Given the description of an element on the screen output the (x, y) to click on. 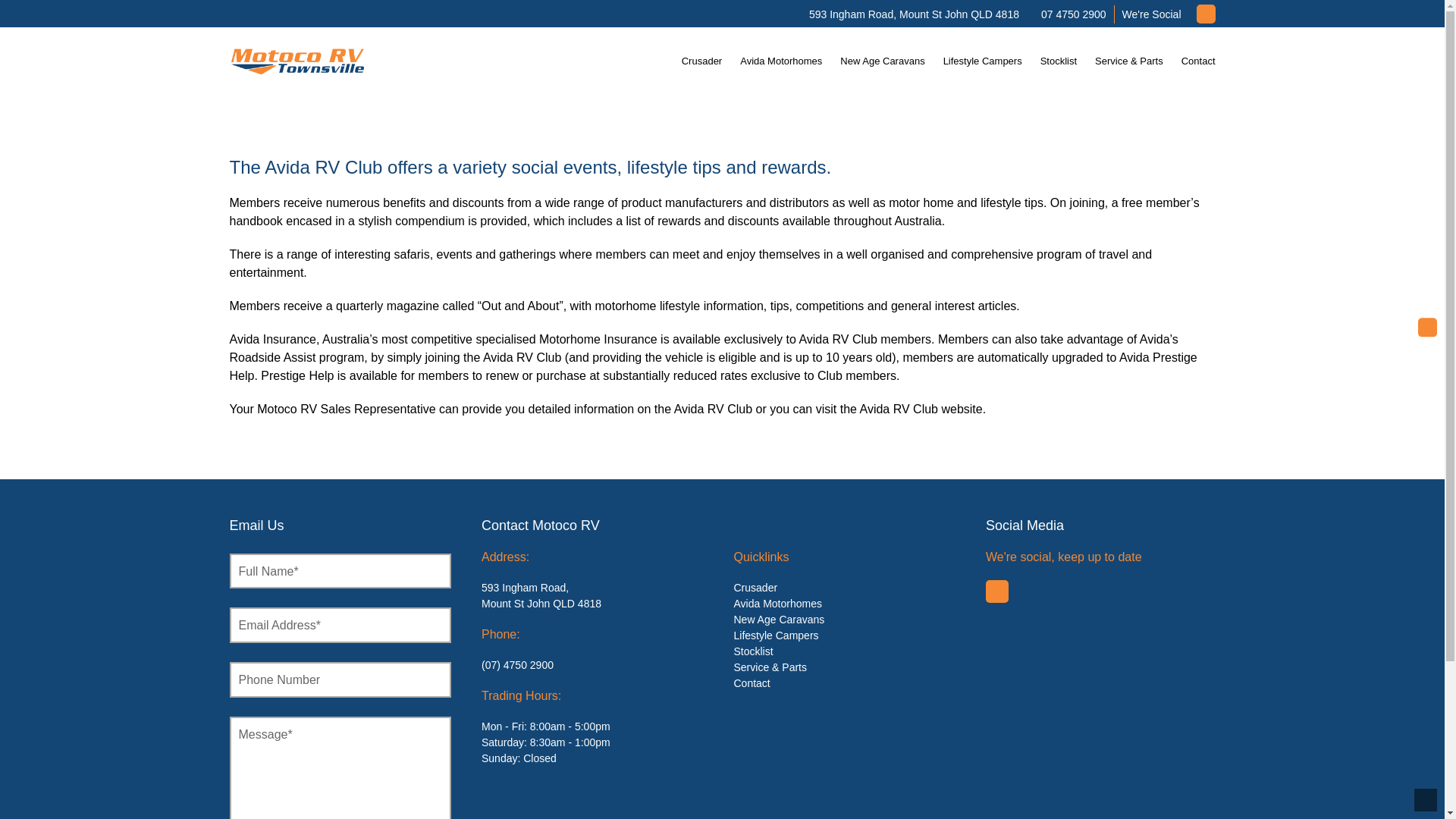
07 4750 2900 (1073, 13)
New Age Caravans (882, 60)
Avida Motorhomes (780, 60)
Crusader (701, 60)
593 Ingham Road, Mount St John QLD 4818 (914, 13)
